Given the description of an element on the screen output the (x, y) to click on. 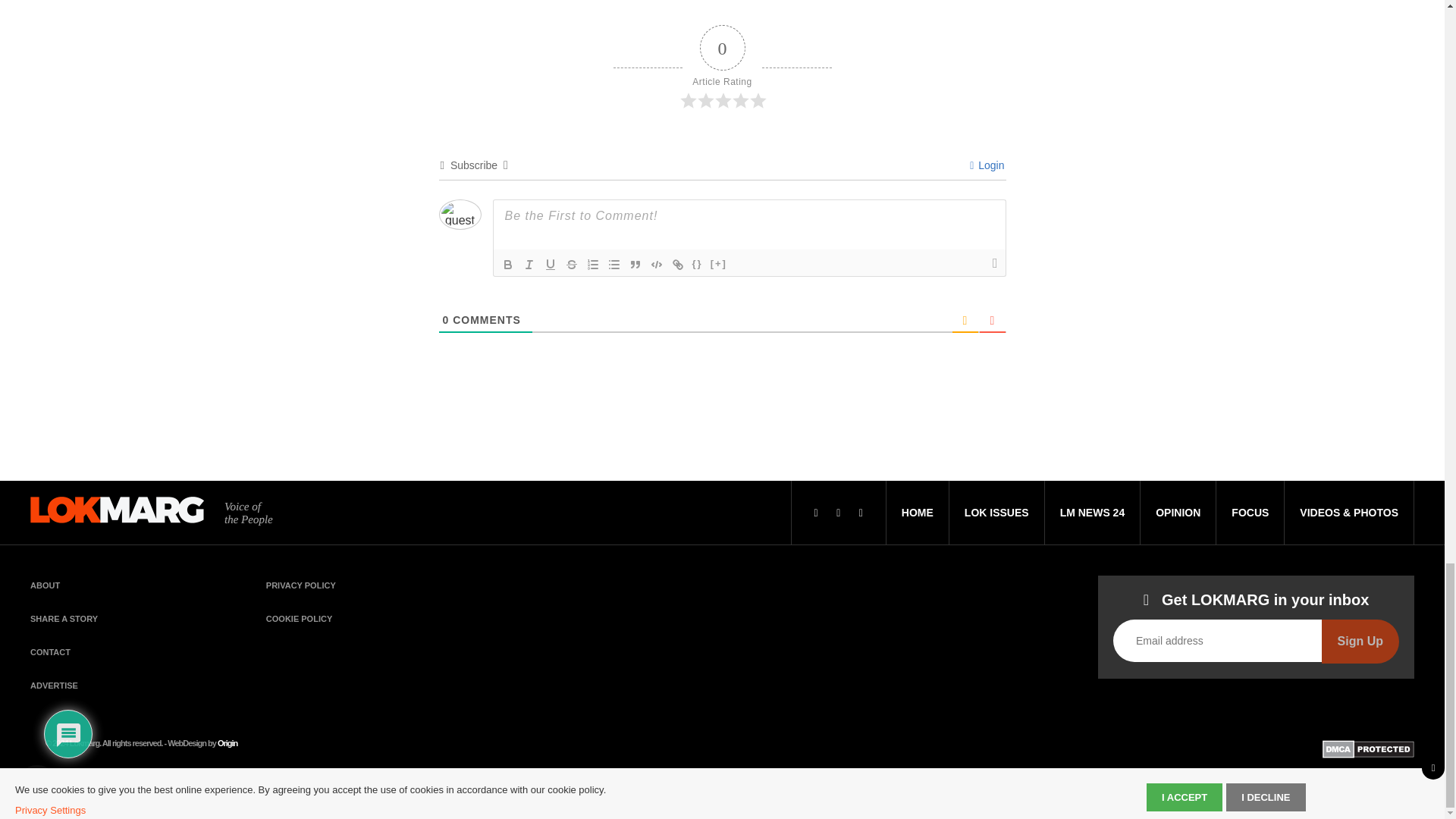
Sign Up (1360, 641)
Login (986, 164)
